Given the description of an element on the screen output the (x, y) to click on. 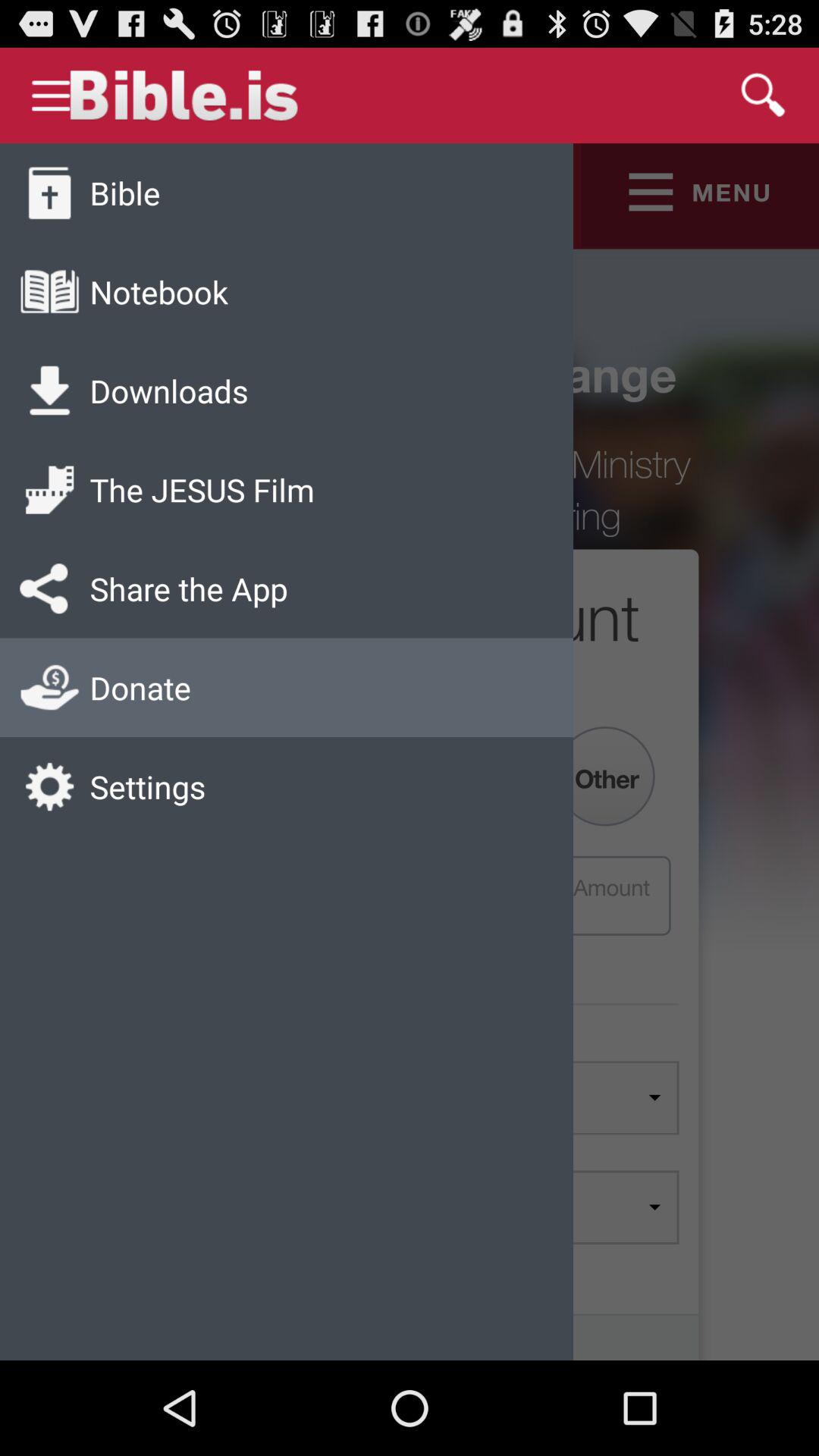
turn off icon above donate icon (188, 588)
